Given the description of an element on the screen output the (x, y) to click on. 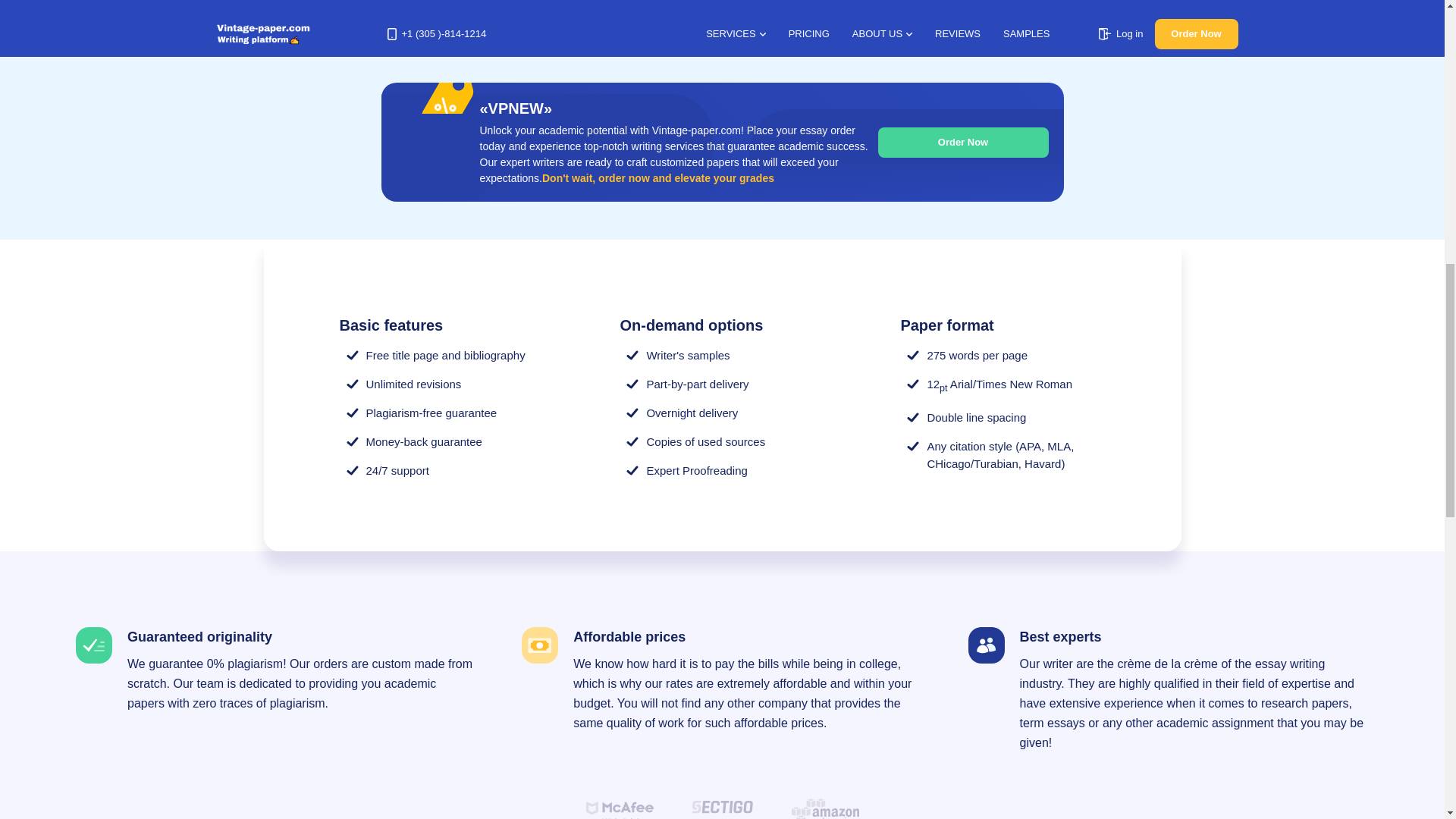
Order Now (962, 142)
